Given the description of an element on the screen output the (x, y) to click on. 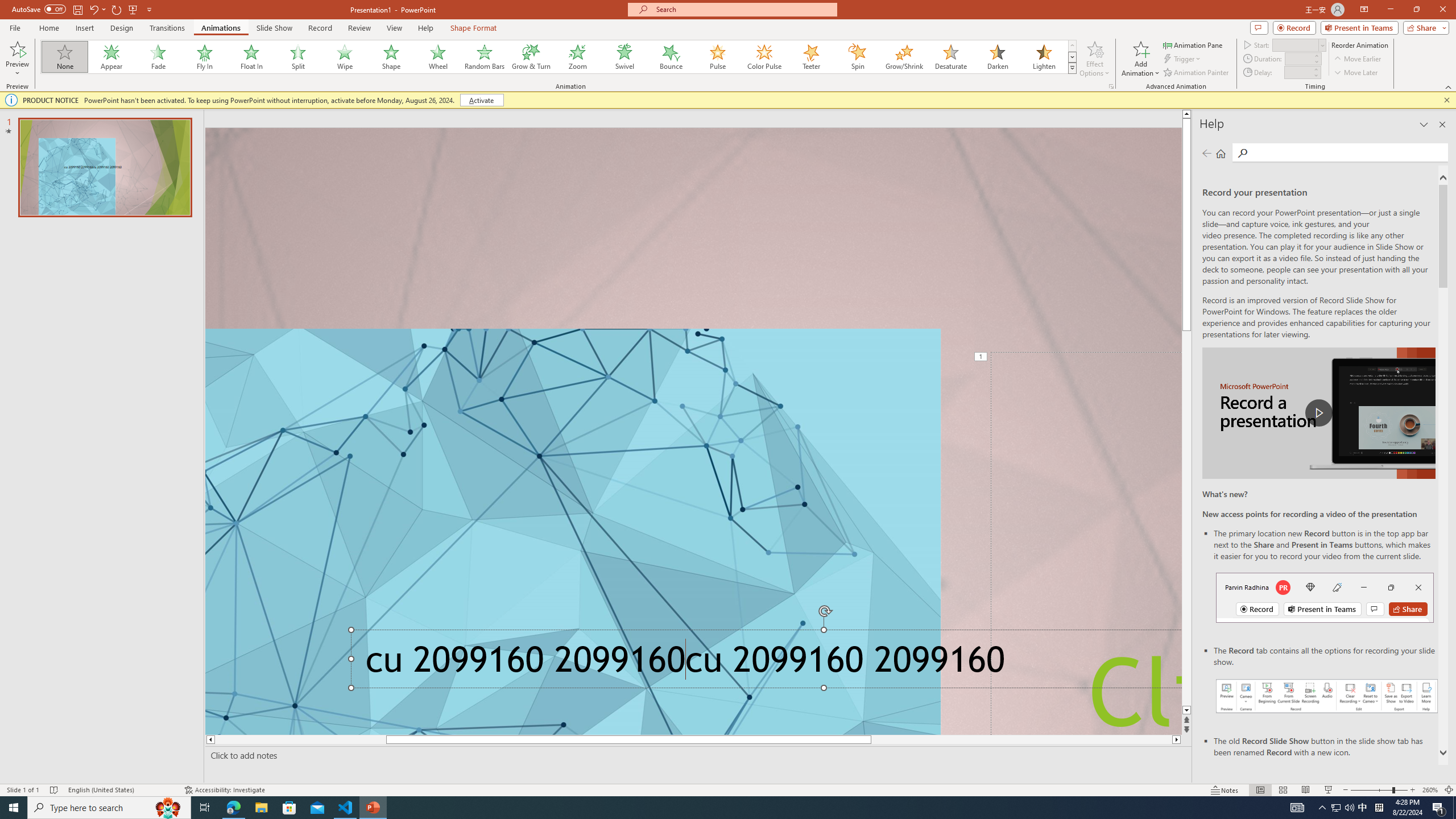
play Record a Presentation (1318, 412)
Activate (481, 100)
Record button in top bar (1324, 597)
None (65, 56)
Move Later (1355, 72)
Swivel (624, 56)
